Given the description of an element on the screen output the (x, y) to click on. 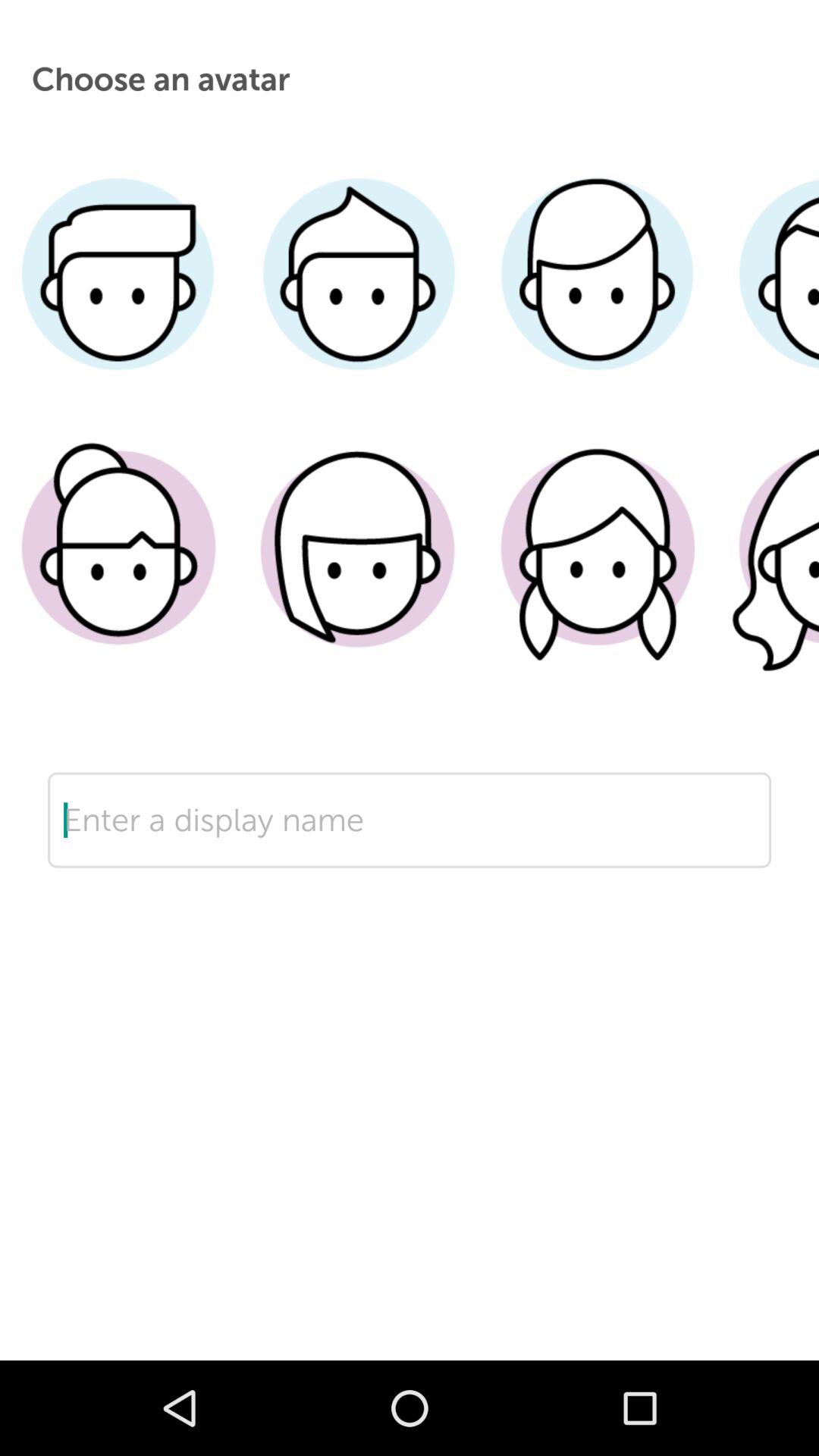
choose this avatar (596, 570)
